Given the description of an element on the screen output the (x, y) to click on. 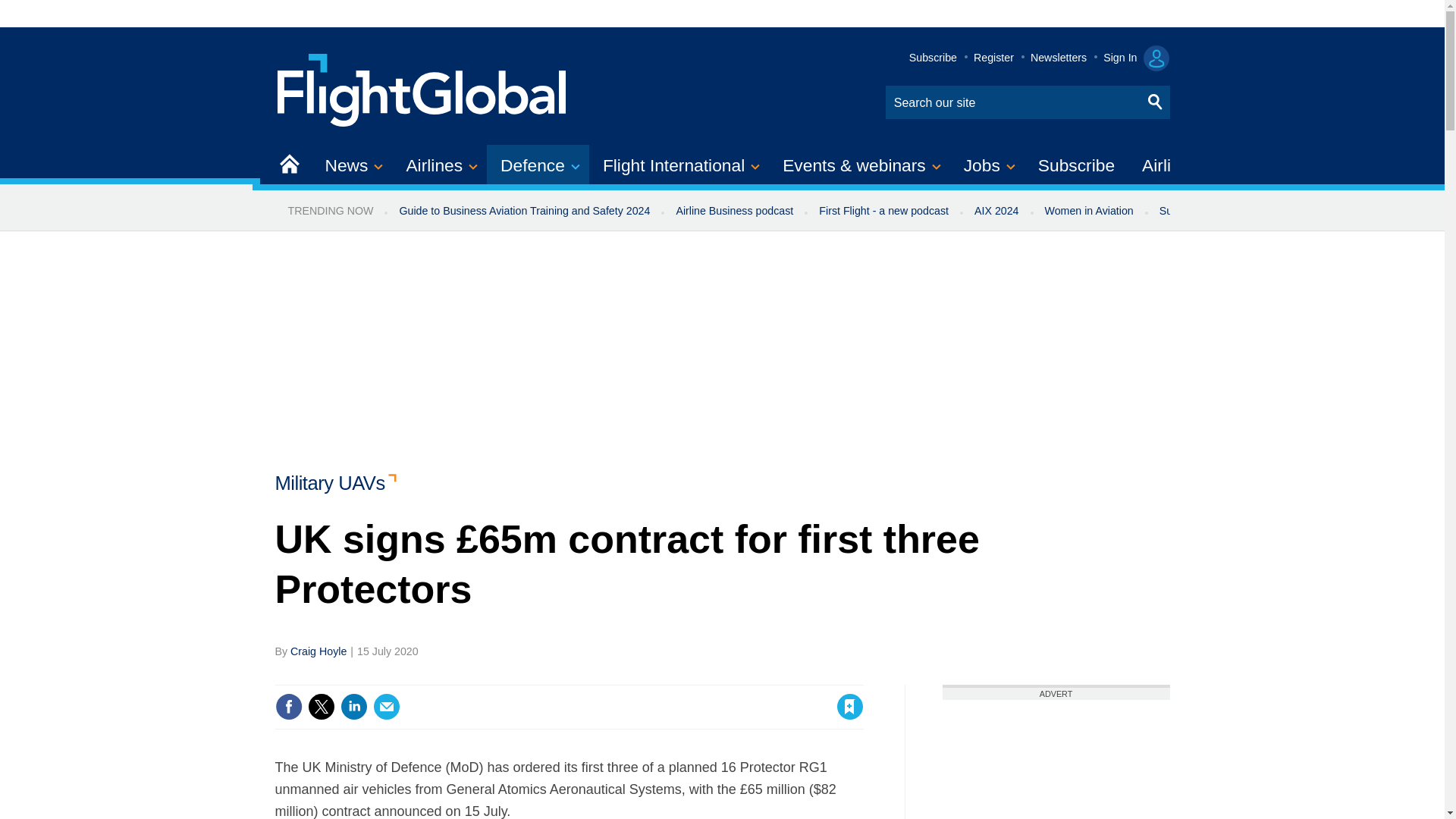
AIX 2024 (996, 210)
Women in Aviation (1089, 210)
First Flight - a new podcast (883, 210)
Airline Business podcast (734, 210)
Guide to Business Aviation Training and Safety 2024 (523, 210)
Share this on Twitter (320, 706)
Share this on Linked in (352, 706)
Sustainable Aviation newsletter (1234, 210)
Email this article (386, 706)
Share this on Facebook (288, 706)
Site name (422, 88)
3rd party ad content (1055, 759)
